Given the description of an element on the screen output the (x, y) to click on. 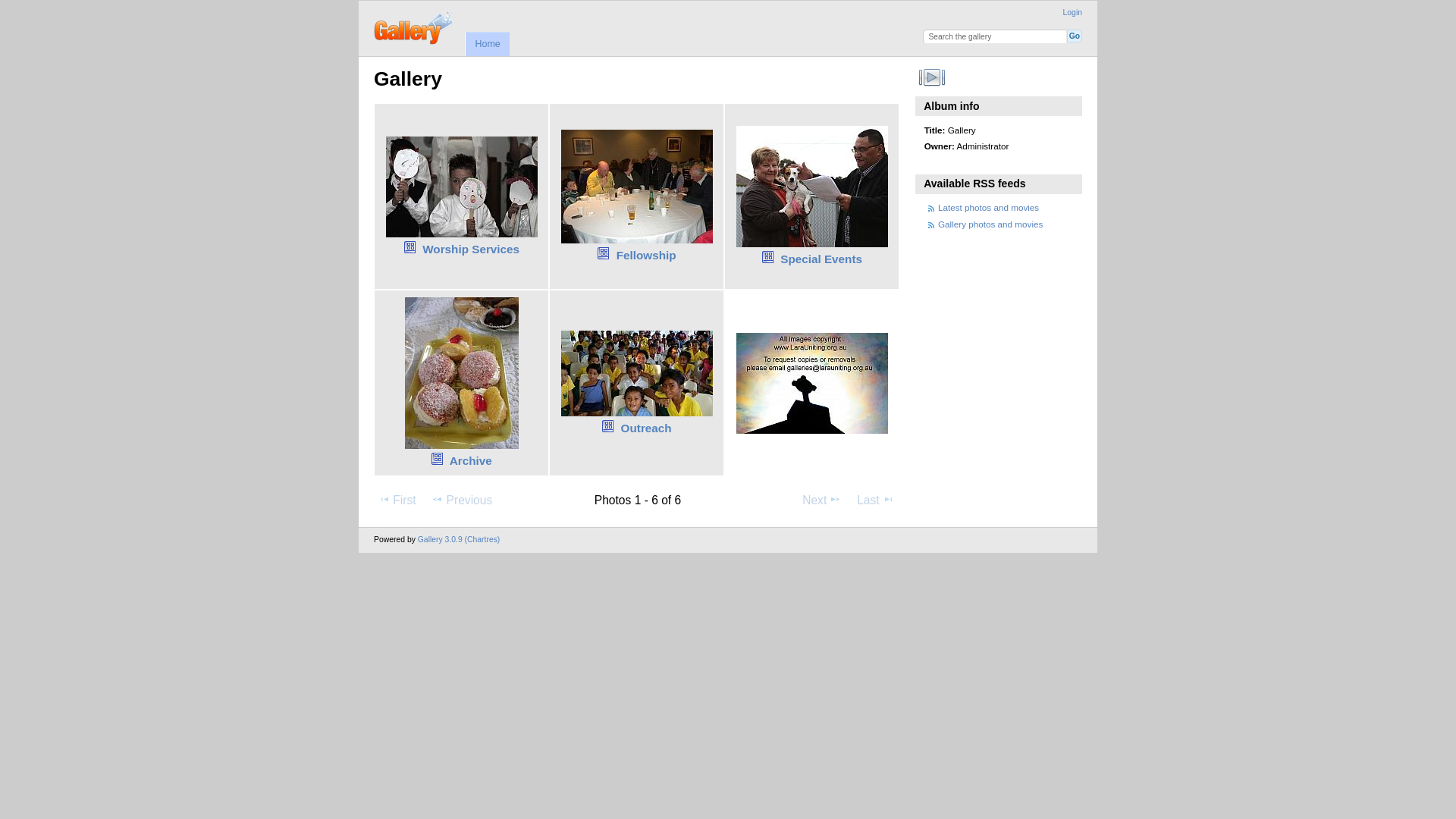
Login Element type: text (1072, 12)
View slideshow Element type: text (932, 76)
First Element type: text (396, 499)
Previous Element type: text (461, 499)
Go Element type: text (1074, 35)
Archive Element type: text (470, 460)
Special Events Element type: text (821, 258)
go back to the Gallery home Element type: hover (414, 26)
Gallery photos and movies Element type: text (990, 224)
Gallery 3.0.9 (Chartres) Element type: text (458, 539)
Latest photos and movies Element type: text (988, 207)
Fellowship Element type: text (646, 254)
Next Element type: text (821, 499)
Last Element type: text (875, 499)
Worship Services Element type: text (470, 248)
Outreach Element type: text (646, 427)
Home Element type: text (486, 43)
